Given the description of an element on the screen output the (x, y) to click on. 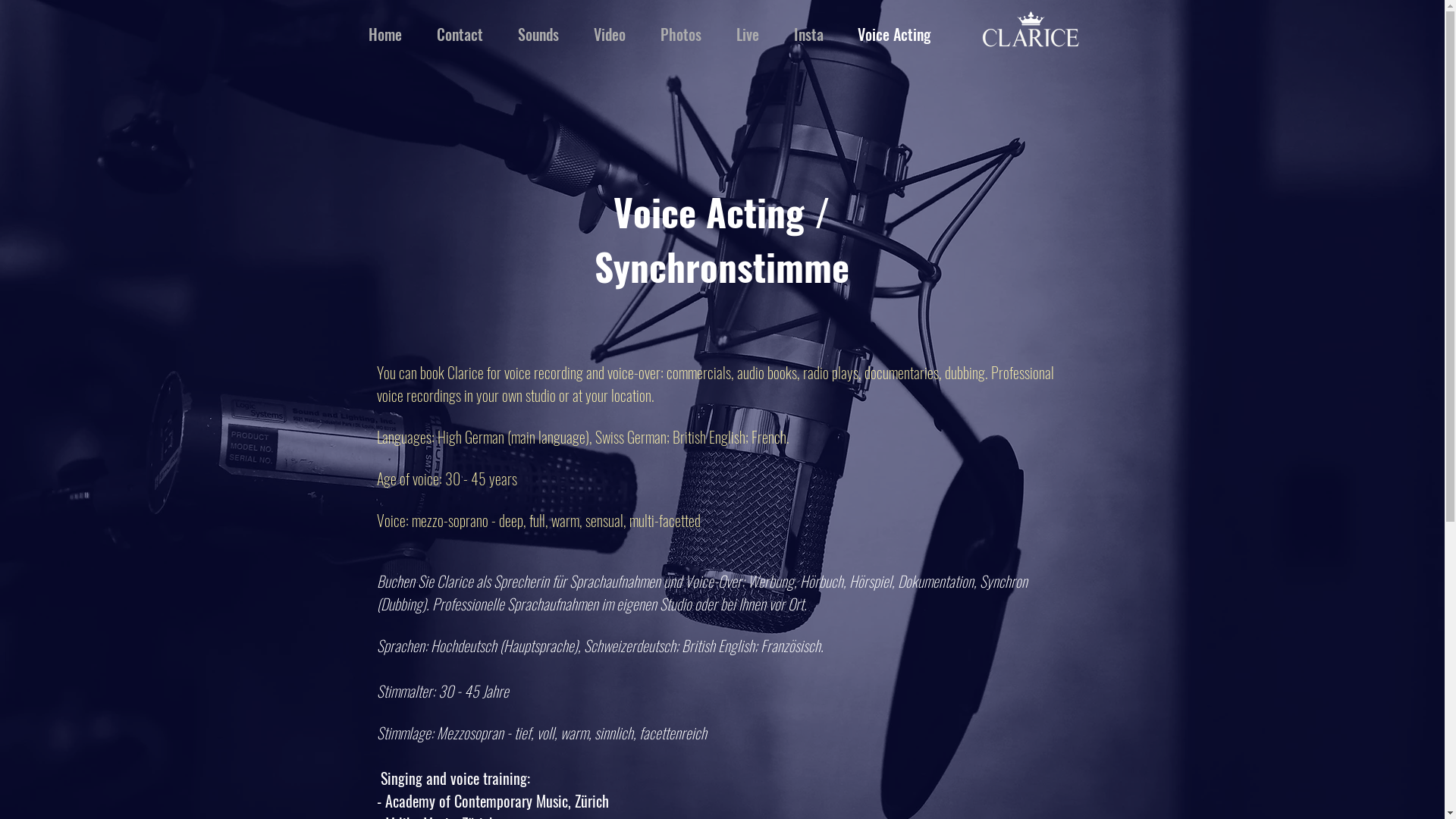
Sounds Element type: text (538, 34)
Voice Acting Element type: text (893, 34)
Video Element type: text (609, 34)
Contact Element type: text (458, 34)
Insta Element type: text (808, 34)
Home Element type: text (384, 34)
Photos Element type: text (680, 34)
Live Element type: text (747, 34)
